Given the description of an element on the screen output the (x, y) to click on. 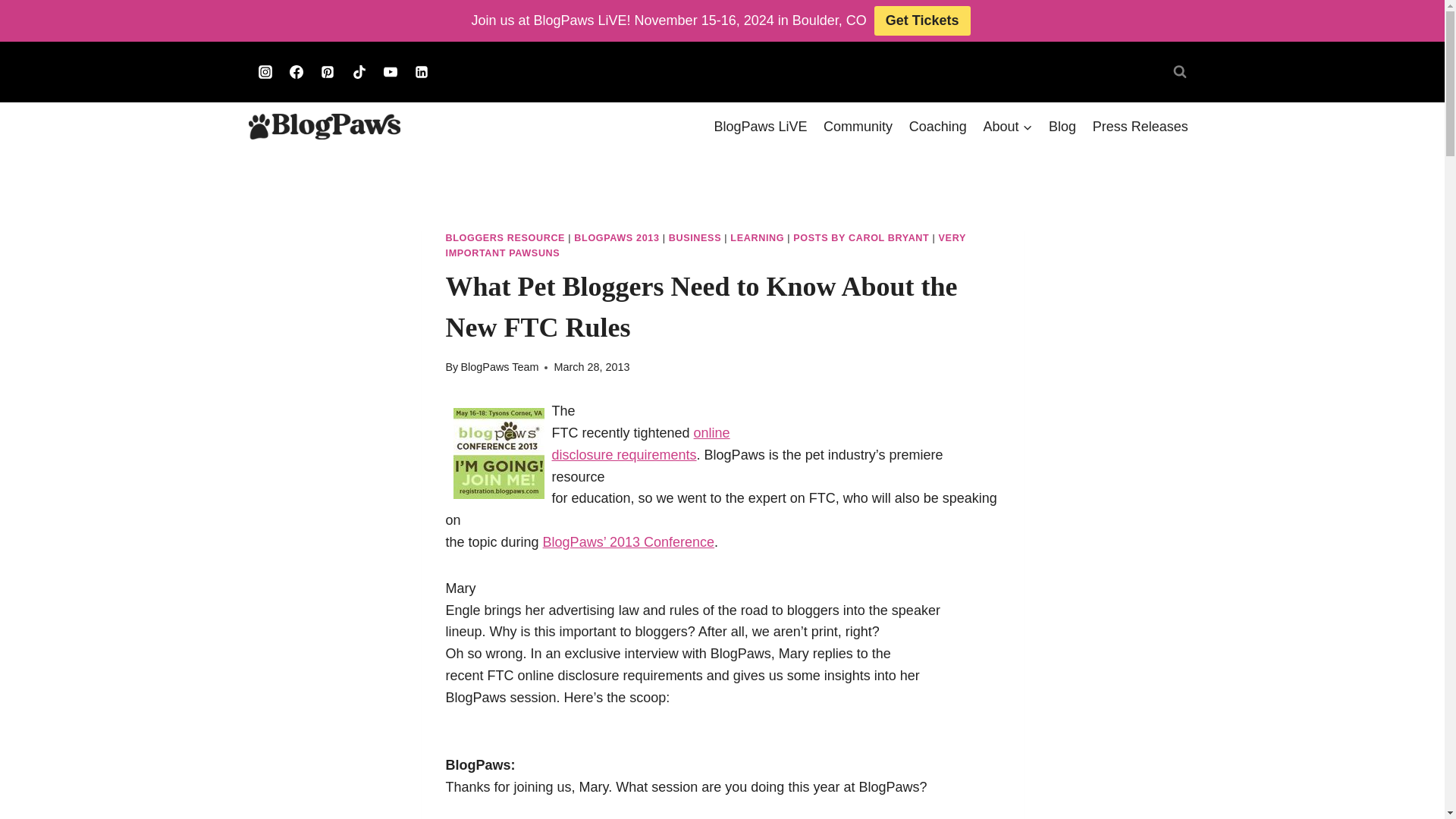
BLOGPAWS 2013 (616, 237)
BUSINESS (694, 237)
POSTS BY CAROL BRYANT (860, 237)
Blog (1062, 126)
BLOGGERS RESOURCE (505, 237)
VERY IMPORTANT PAWSUNS (640, 443)
BlogPaws LiVE (705, 245)
Community (760, 126)
6a0120a678c547970b017d410f5f1f970c-200wi (858, 126)
Press Releases (498, 452)
About (1140, 126)
Get Tickets (1008, 126)
BlogPaws Team (923, 20)
Coaching (499, 367)
